Given the description of an element on the screen output the (x, y) to click on. 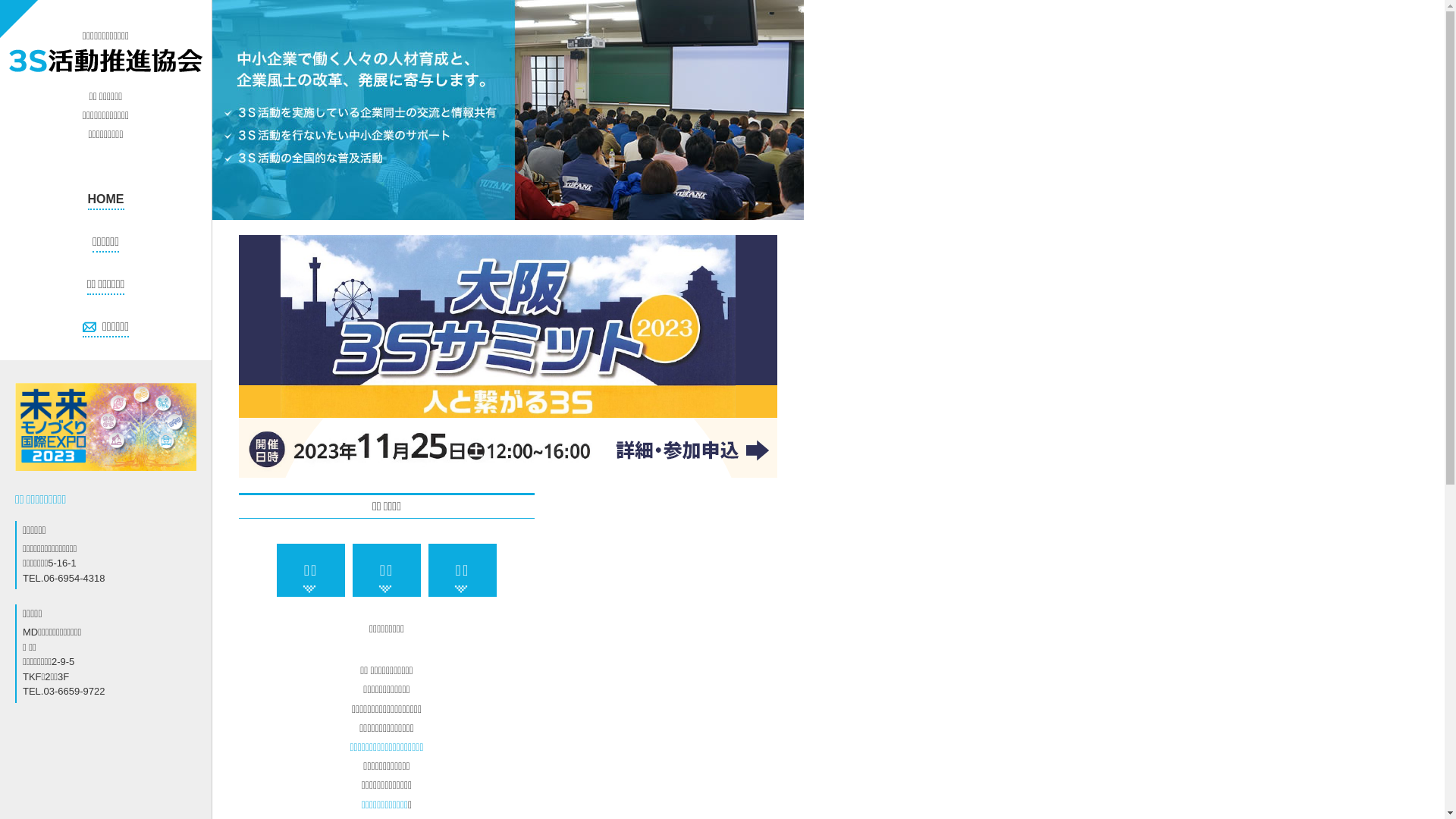
HOME Element type: text (105, 200)
